Given the description of an element on the screen output the (x, y) to click on. 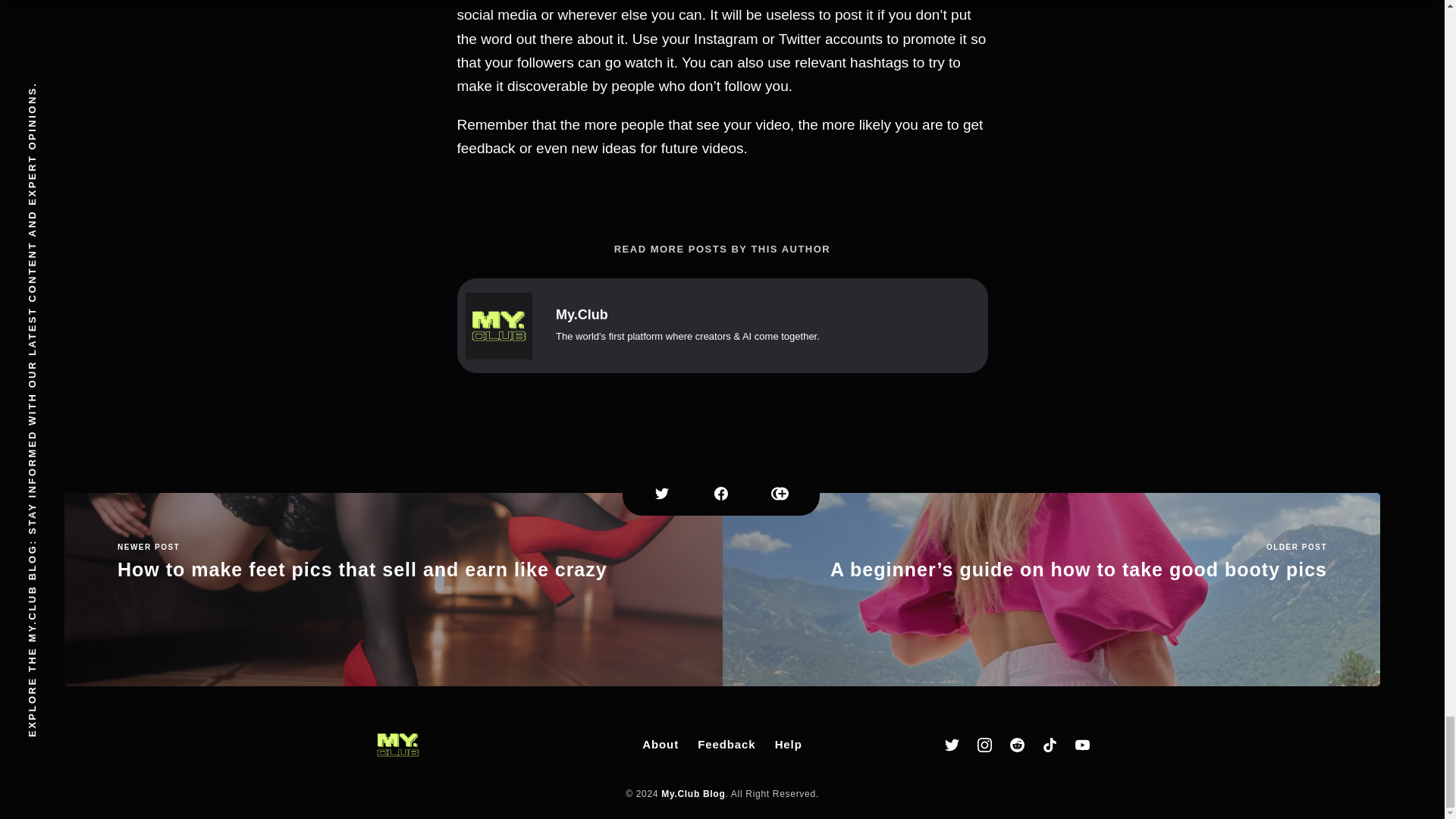
My.Club (580, 314)
Help (788, 744)
About (659, 744)
My.Club Blog (693, 793)
Feedback (726, 744)
